Given the description of an element on the screen output the (x, y) to click on. 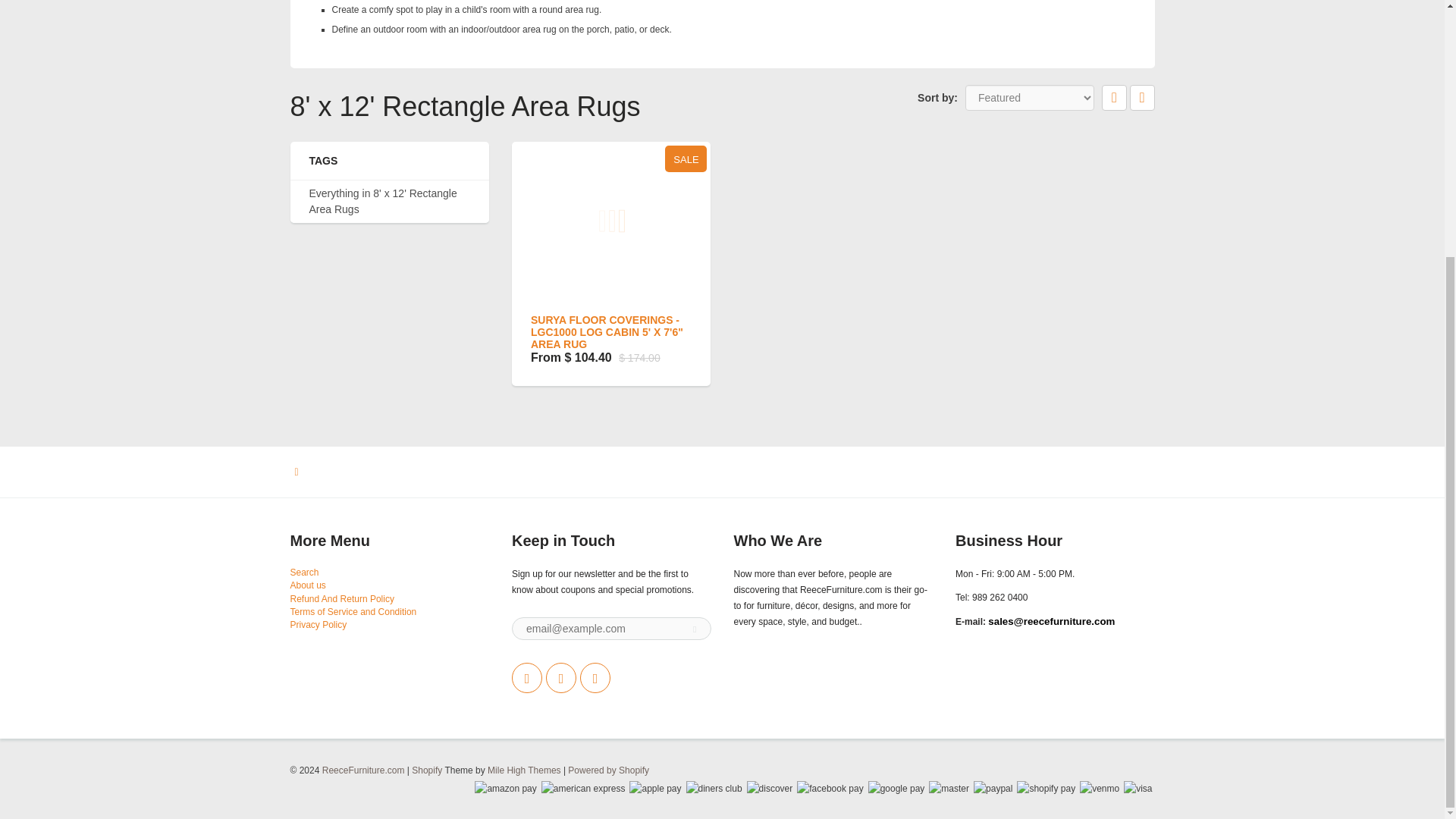
SURYA FLOOR COVERINGS - LGC1000 LOG CABIN 5' X 7'6" AREA RUG (606, 331)
Search (303, 572)
About us (306, 584)
Facebook (561, 677)
List View (1141, 97)
Everything in 8' x 12' Rectangle Area Rugs (389, 201)
TAGS (389, 160)
Twitter (526, 677)
Terms of Service and Condition (352, 611)
Pinterest (594, 677)
